Given the description of an element on the screen output the (x, y) to click on. 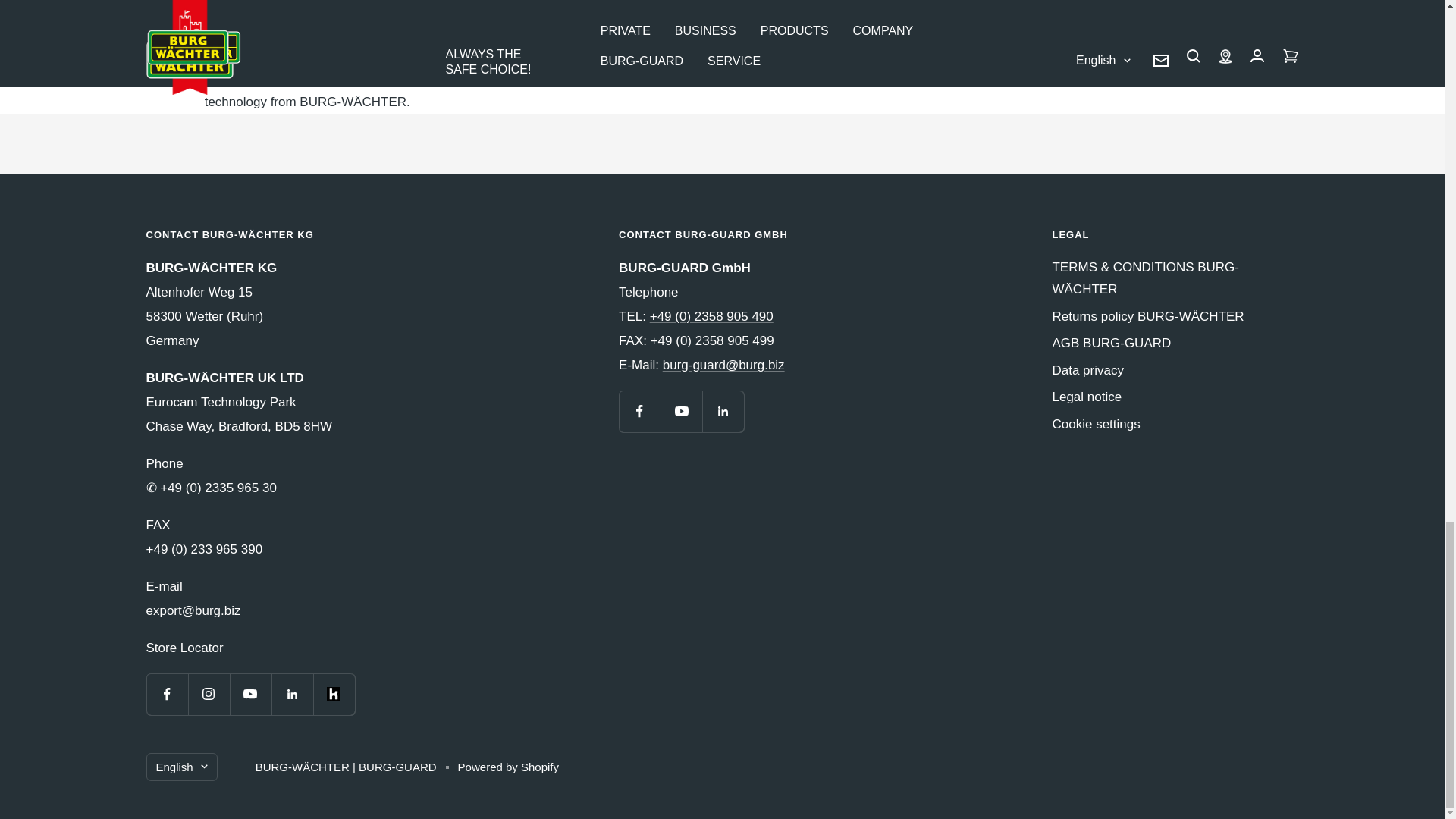
Store Locator (183, 647)
